Given the description of an element on the screen output the (x, y) to click on. 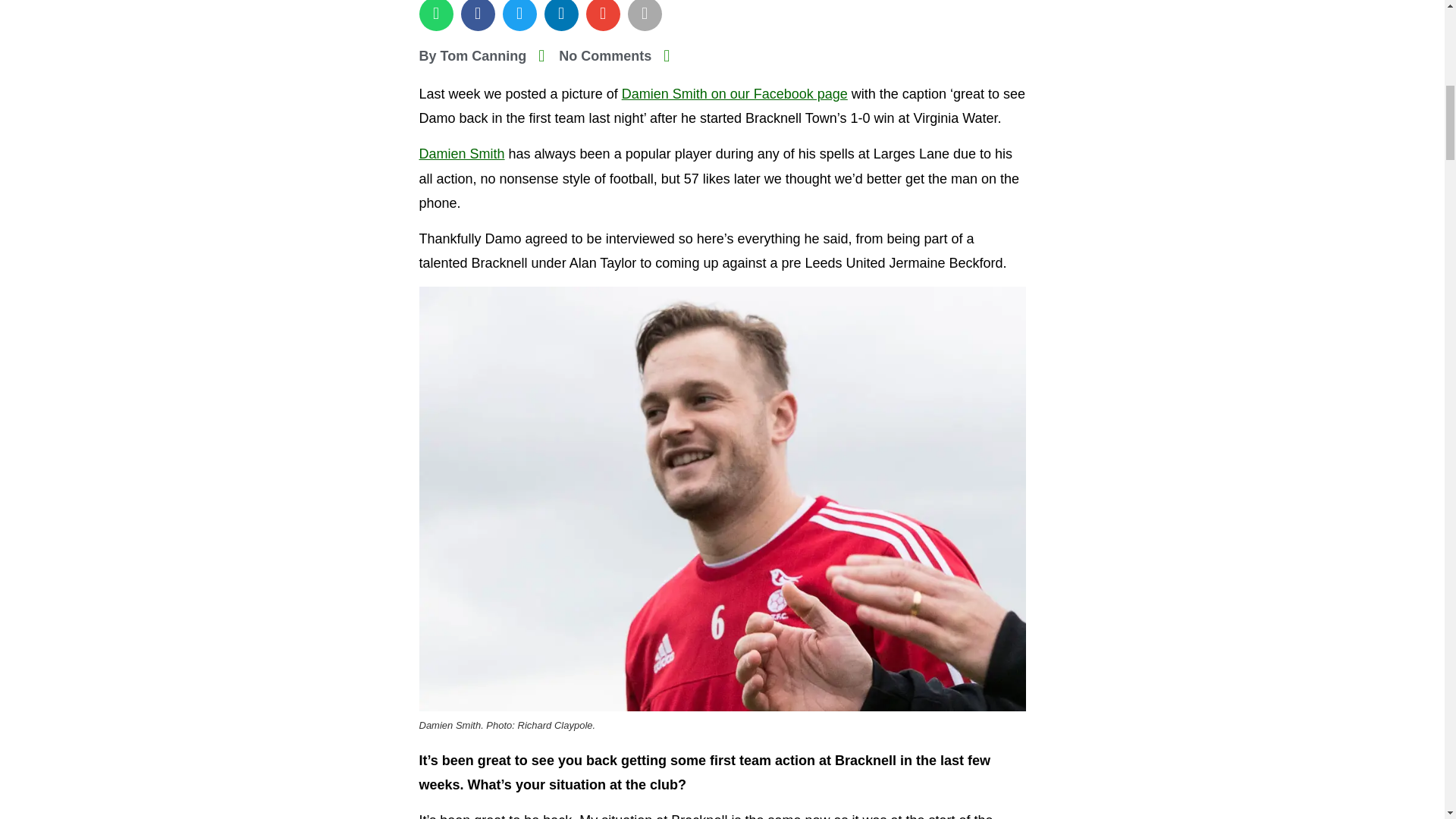
No Comments (594, 55)
By Tom Canning (472, 55)
Damien Smith (461, 153)
Damien Smith on our Facebook page (734, 93)
